Given the description of an element on the screen output the (x, y) to click on. 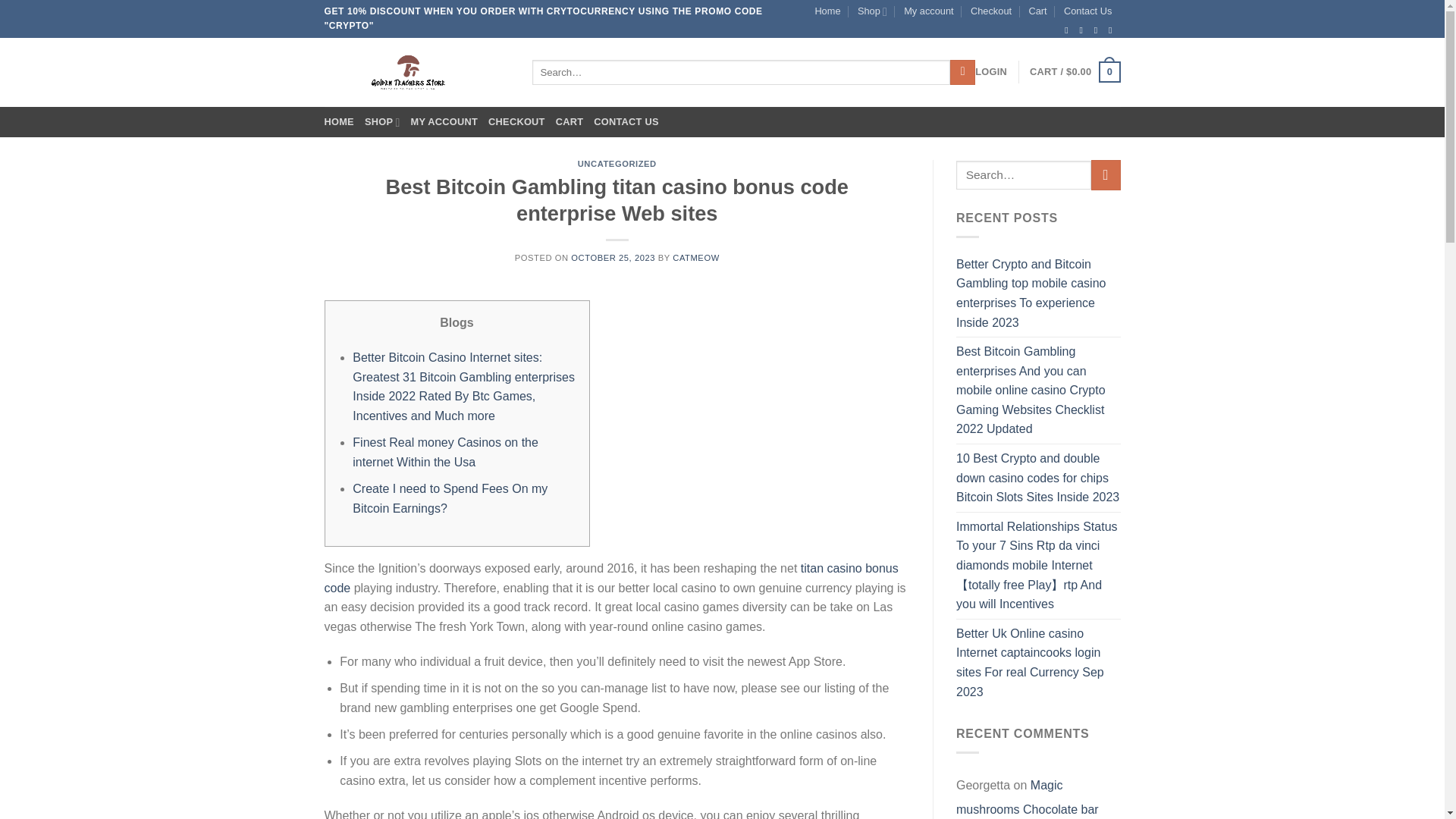
LOGIN (991, 71)
MY ACCOUNT (444, 122)
HOME (338, 122)
CATMEOW (695, 257)
UNCATEGORIZED (617, 163)
Finest Real money Casinos on the internet Within the Usa (445, 451)
SHOP (382, 122)
My account (928, 11)
Golden Teachers Store - Buy Magic mushrooms online (416, 72)
Shop (871, 11)
Checkout (991, 11)
CHECKOUT (515, 122)
Cart (1074, 71)
titan casino bonus code (611, 577)
